Given the description of an element on the screen output the (x, y) to click on. 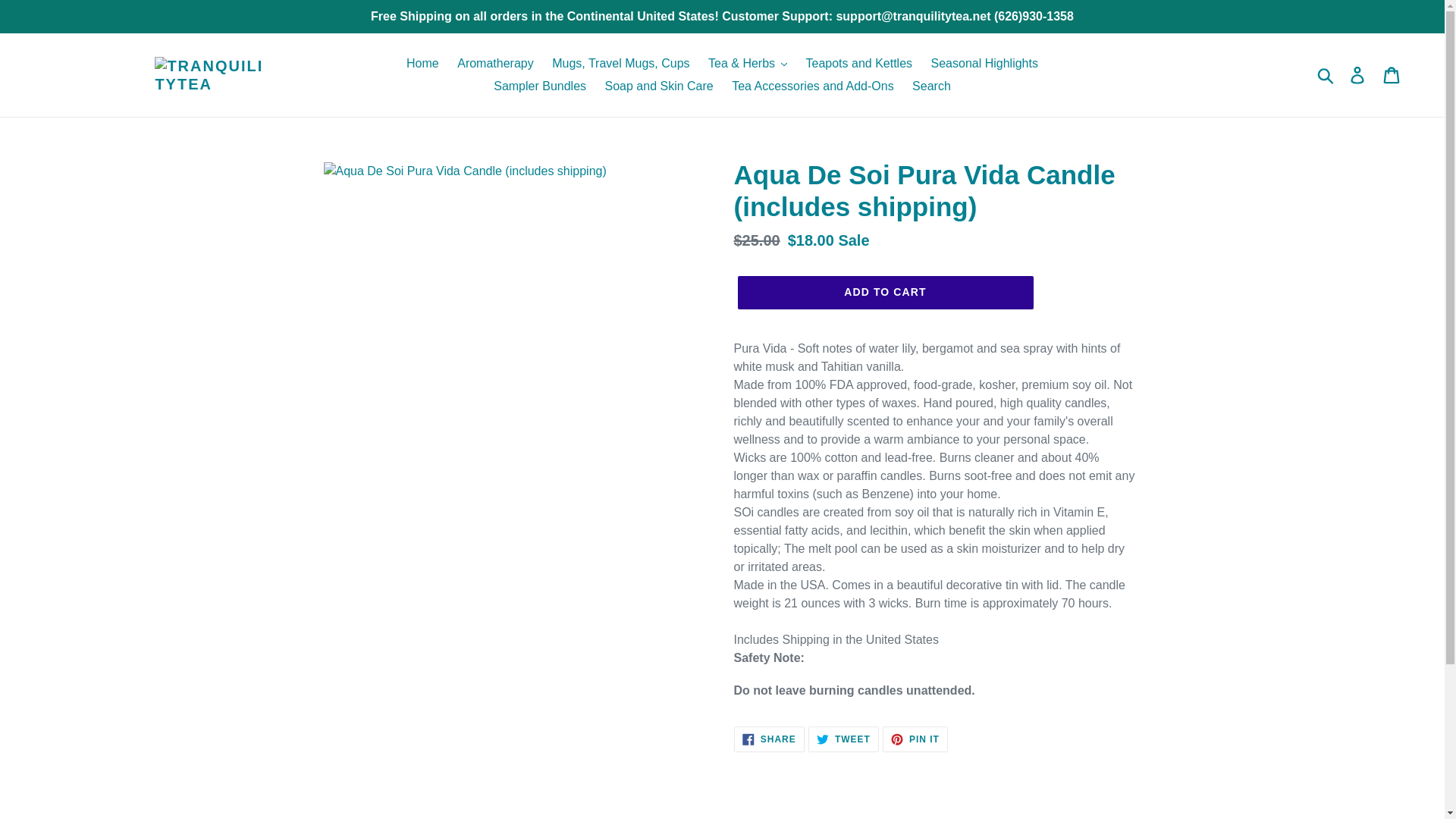
Mugs, Travel Mugs, Cups (620, 63)
Cart (1392, 74)
Aromatherapy (495, 63)
Search (931, 86)
Soap and Skin Care (658, 86)
Submit (1326, 74)
Log in (1357, 74)
Sampler Bundles (540, 86)
Seasonal Highlights (984, 63)
Teapots and Kettles (858, 63)
